Given the description of an element on the screen output the (x, y) to click on. 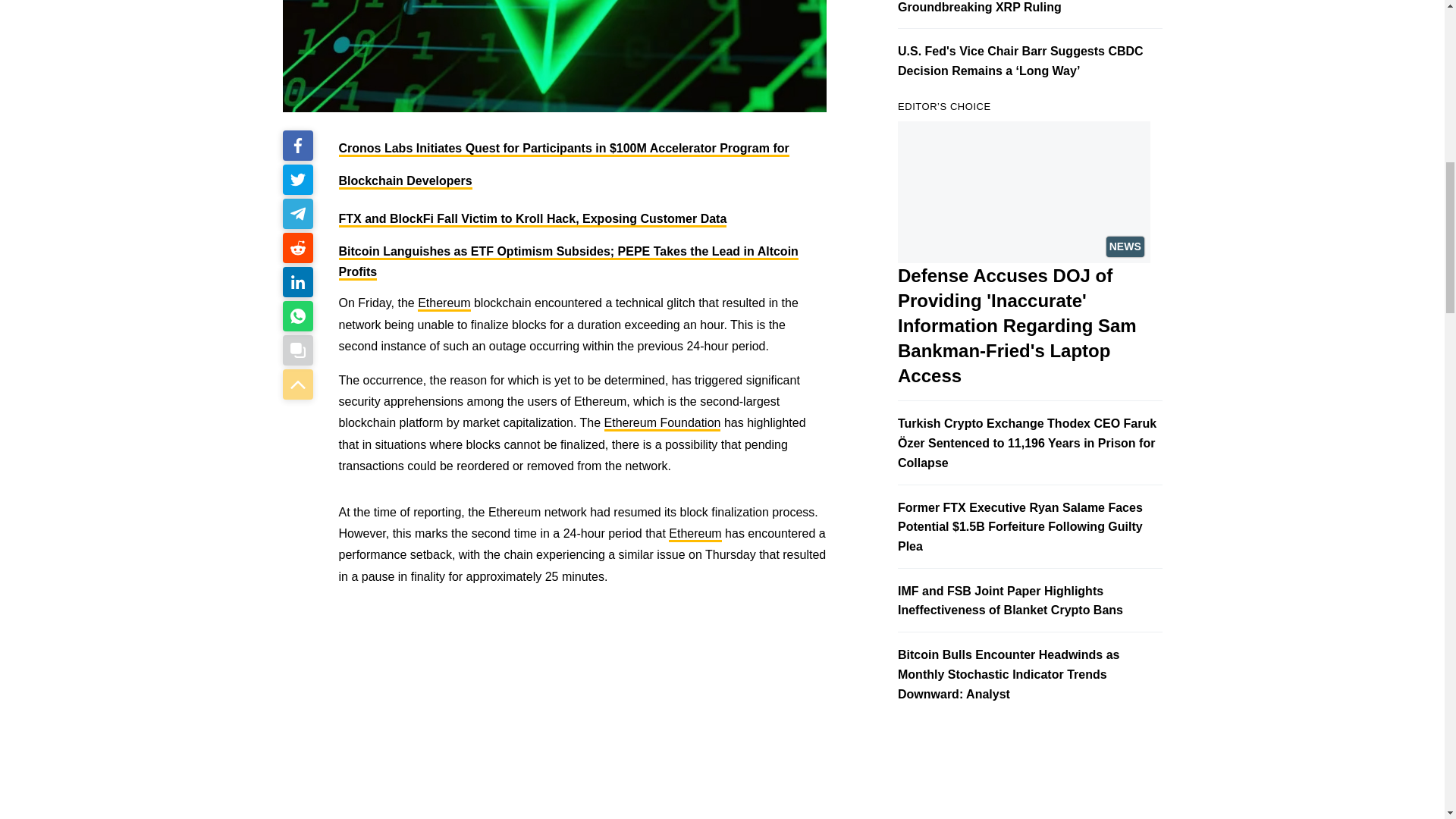
Twitter Tweet (546, 726)
